Given the description of an element on the screen output the (x, y) to click on. 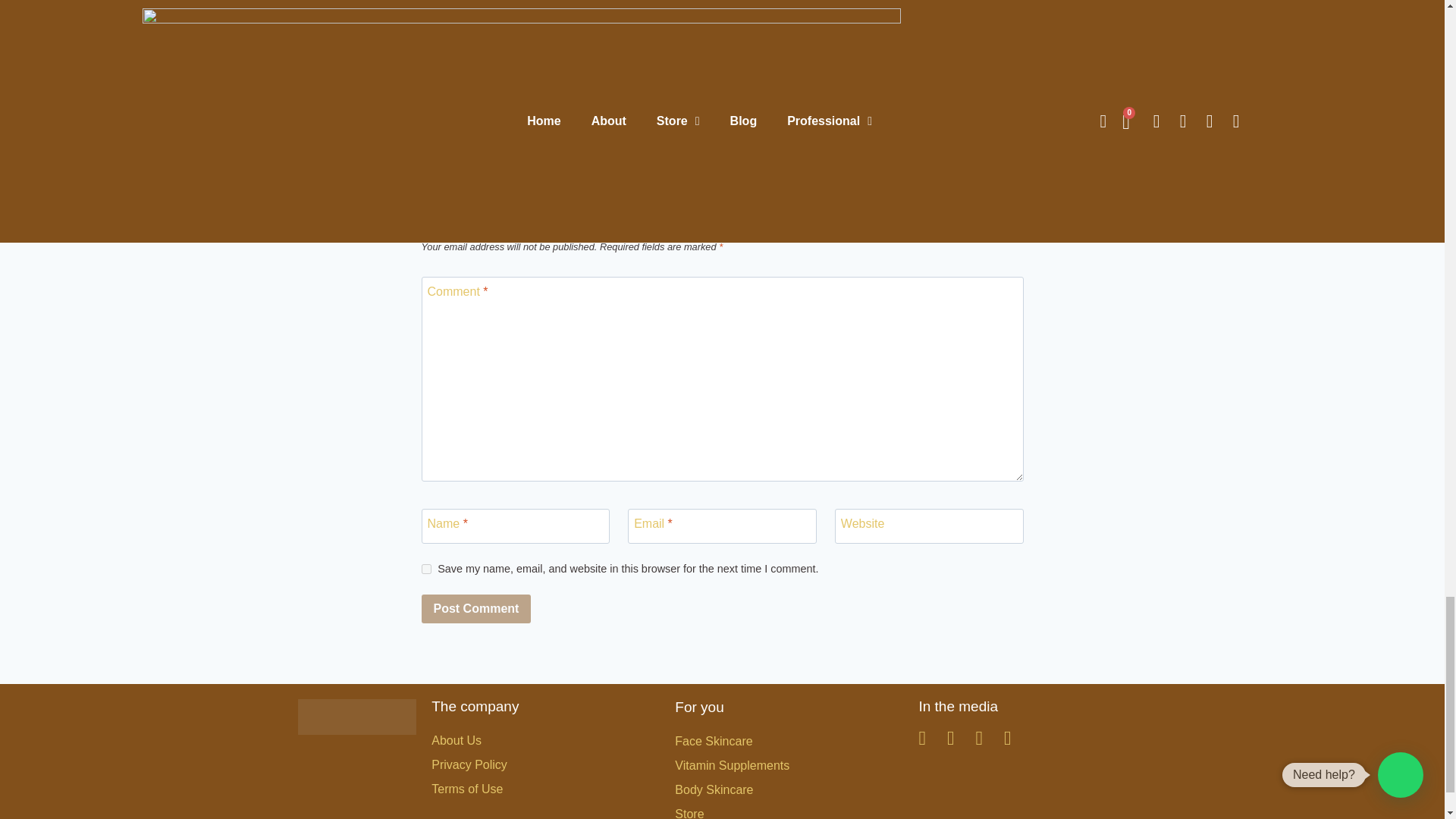
Post Comment (476, 608)
yes (426, 569)
